Given the description of an element on the screen output the (x, y) to click on. 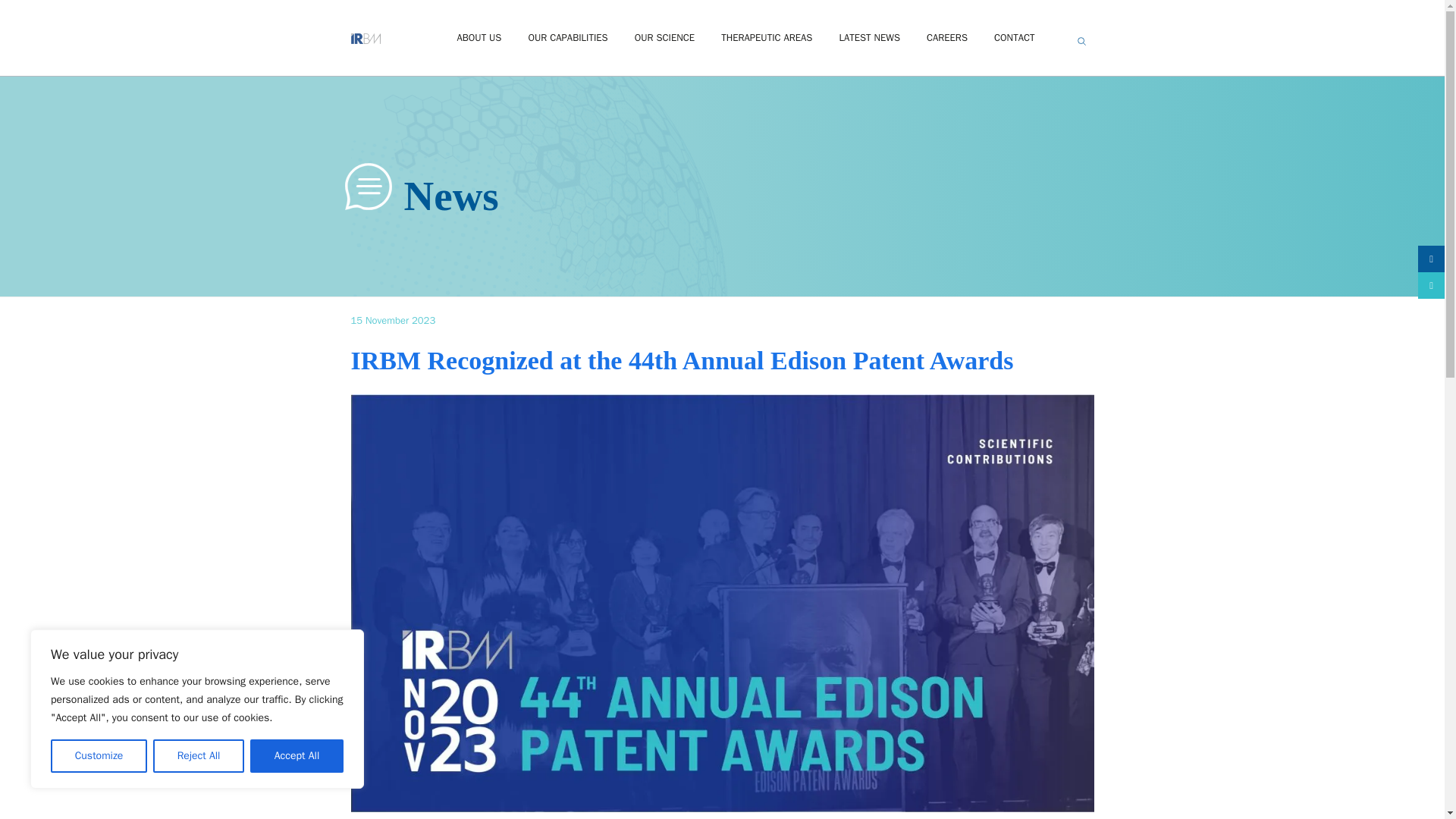
ABOUT US (478, 37)
Customize (98, 756)
OUR CAPABILITIES (567, 37)
Reject All (198, 756)
Accept All (296, 756)
